Given the description of an element on the screen output the (x, y) to click on. 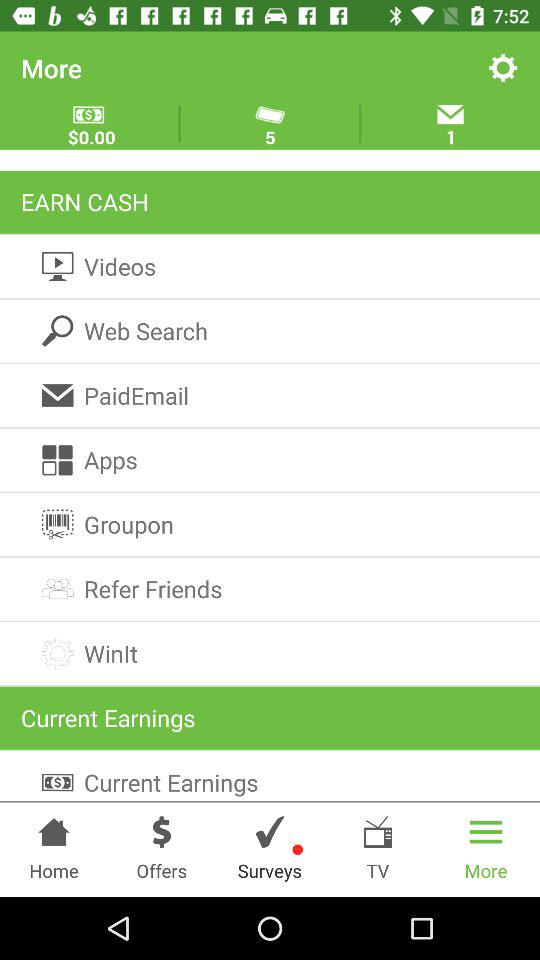
turn on the icon below the videos (270, 330)
